Given the description of an element on the screen output the (x, y) to click on. 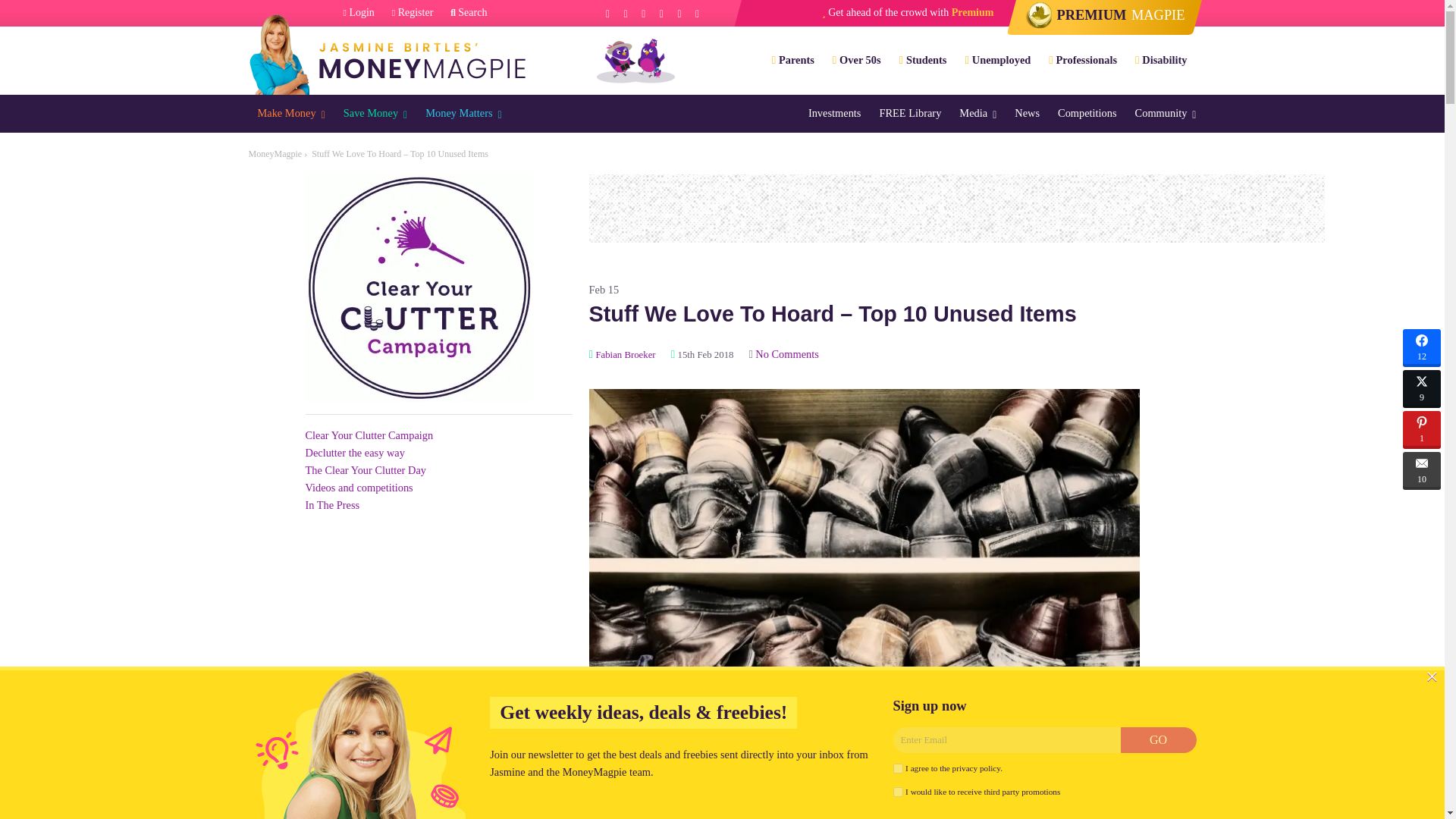
Share on Email (1422, 470)
1 (897, 768)
Go to MoneyMagpie. (275, 153)
Register (412, 12)
1 (897, 791)
Login (358, 12)
Share on Pinterest (1422, 429)
Share on Facebook (1422, 347)
Search (467, 12)
Share on Twitter (1422, 388)
